Given the description of an element on the screen output the (x, y) to click on. 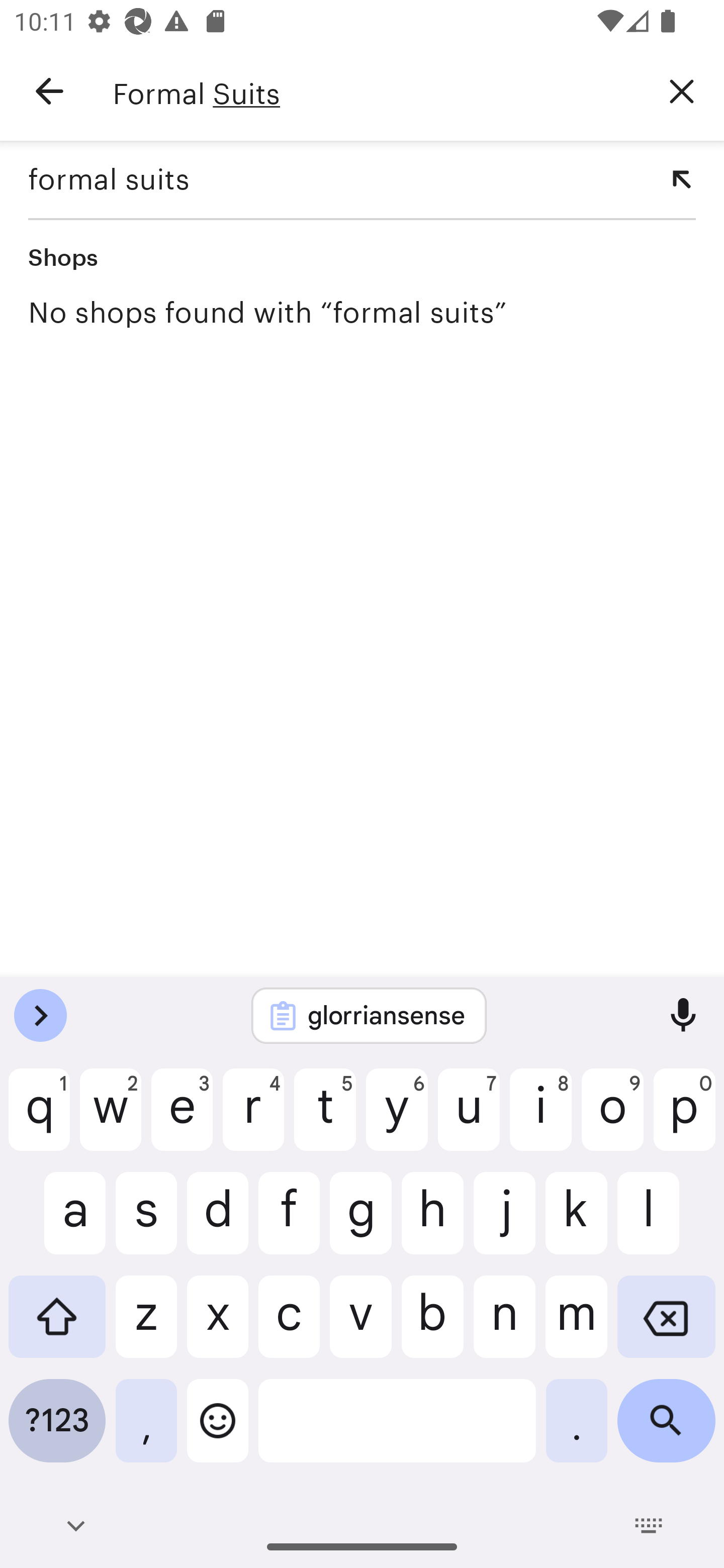
Navigate up (49, 91)
Clear query (681, 90)
Formal Suits (375, 91)
